Given the description of an element on the screen output the (x, y) to click on. 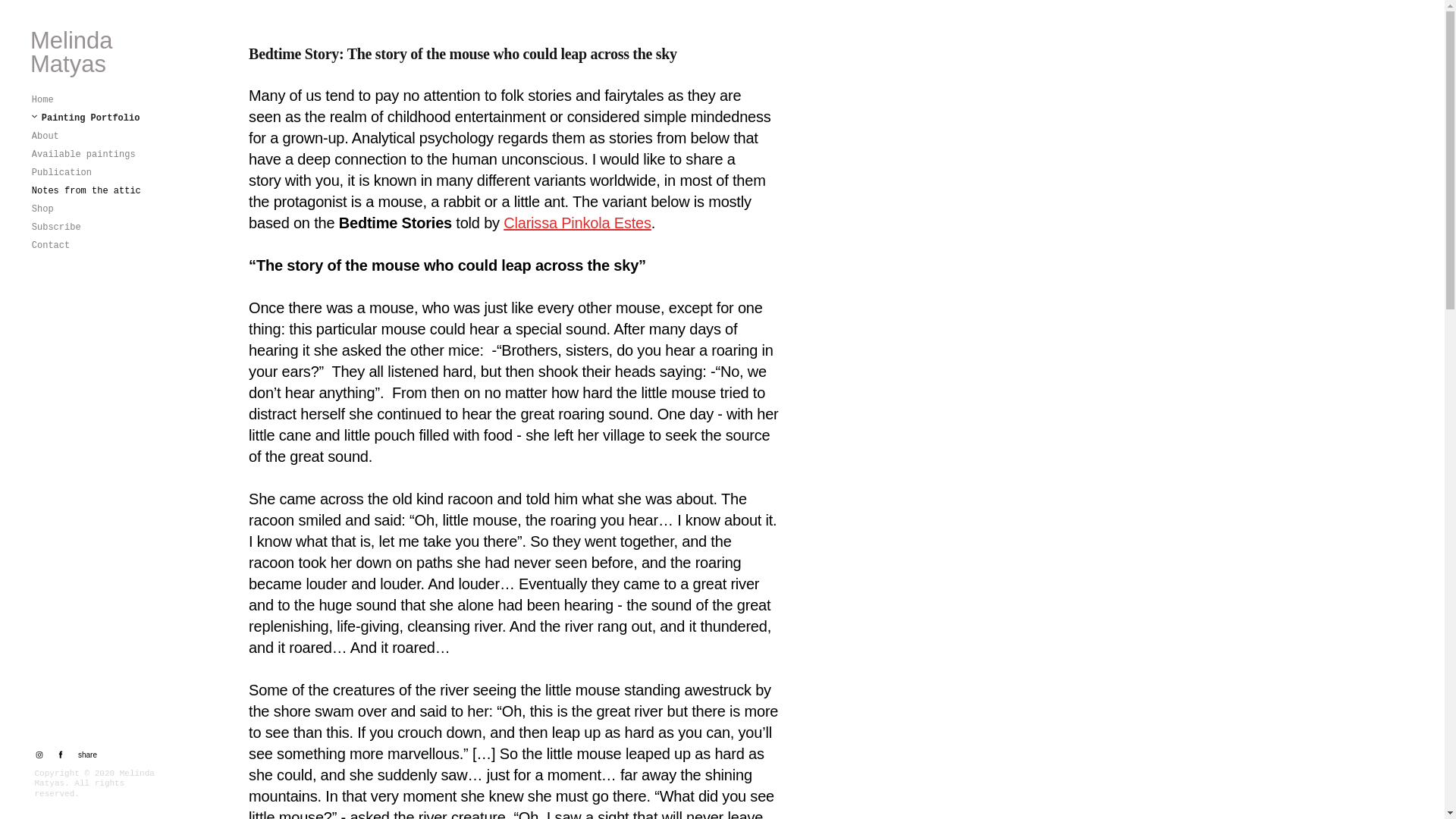
Painting Portfolio (86, 118)
Clarissa Pinkola Estes (576, 222)
Publication (61, 172)
Home (42, 99)
Subscribe (56, 227)
Melinda Matyas (95, 52)
About (45, 136)
Notes from the attic (86, 191)
share (84, 754)
Shop (42, 209)
